Given the description of an element on the screen output the (x, y) to click on. 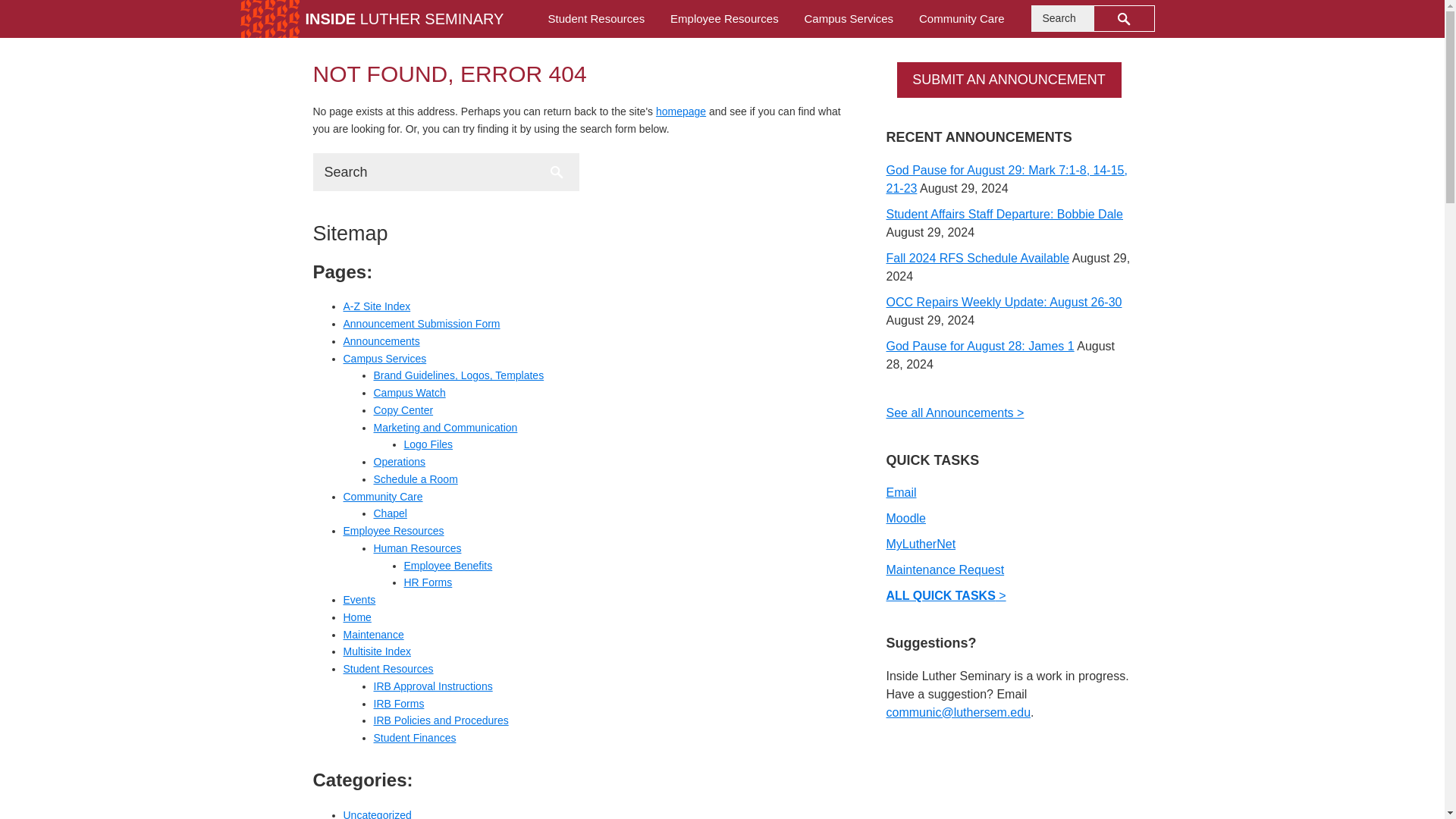
Search (556, 172)
Student Resources (387, 668)
A-Z Site Index (376, 306)
Announcement Submission Form (420, 323)
Home (356, 616)
Search (556, 172)
HR Forms (427, 582)
INSIDE LUTHER SEMINARY (403, 18)
Maintenance (372, 634)
